Given the description of an element on the screen output the (x, y) to click on. 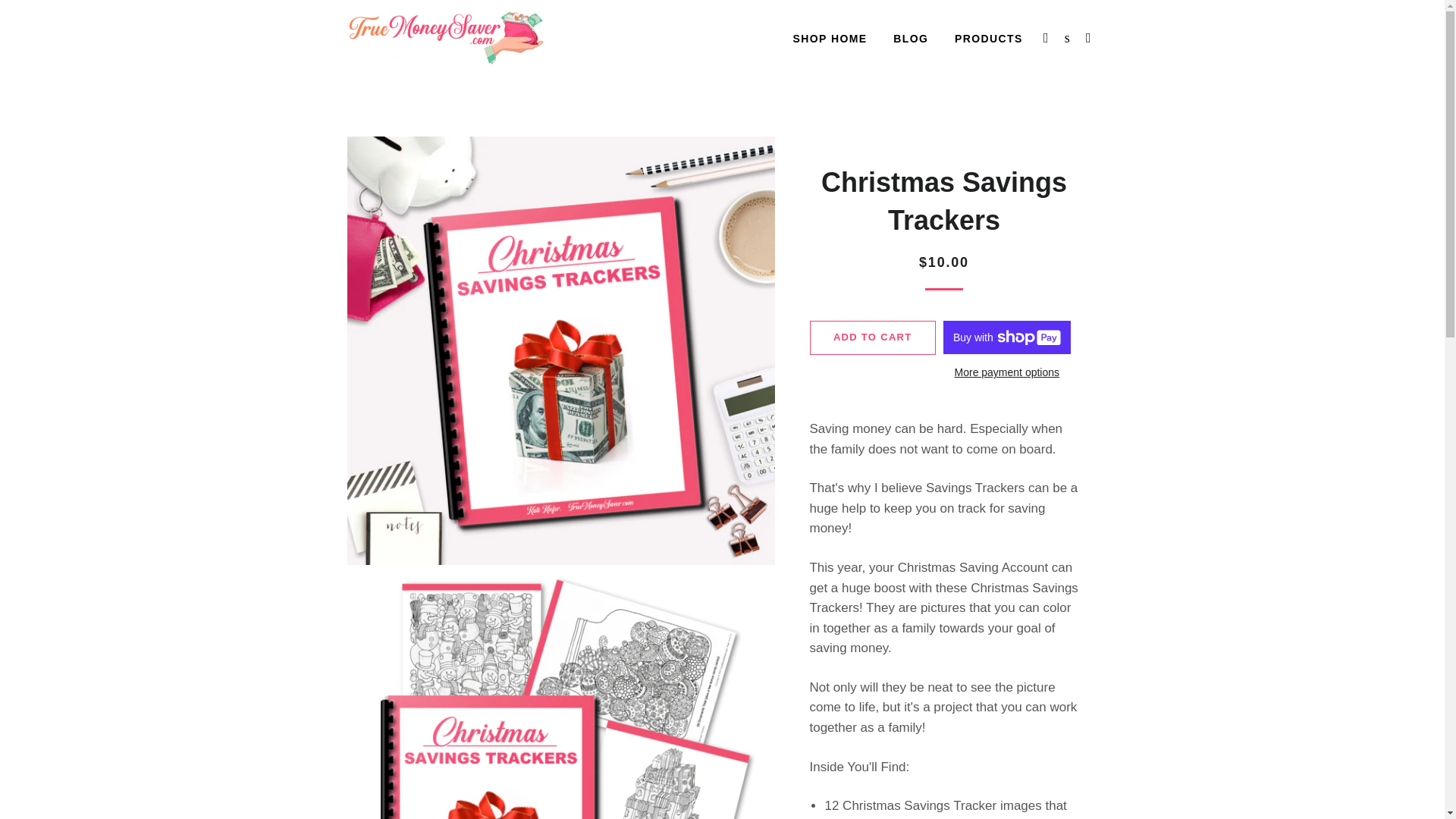
BLOG (910, 38)
PRODUCTS (988, 38)
ADD TO CART (872, 337)
More payment options (1007, 372)
SHOP HOME (830, 38)
